Given the description of an element on the screen output the (x, y) to click on. 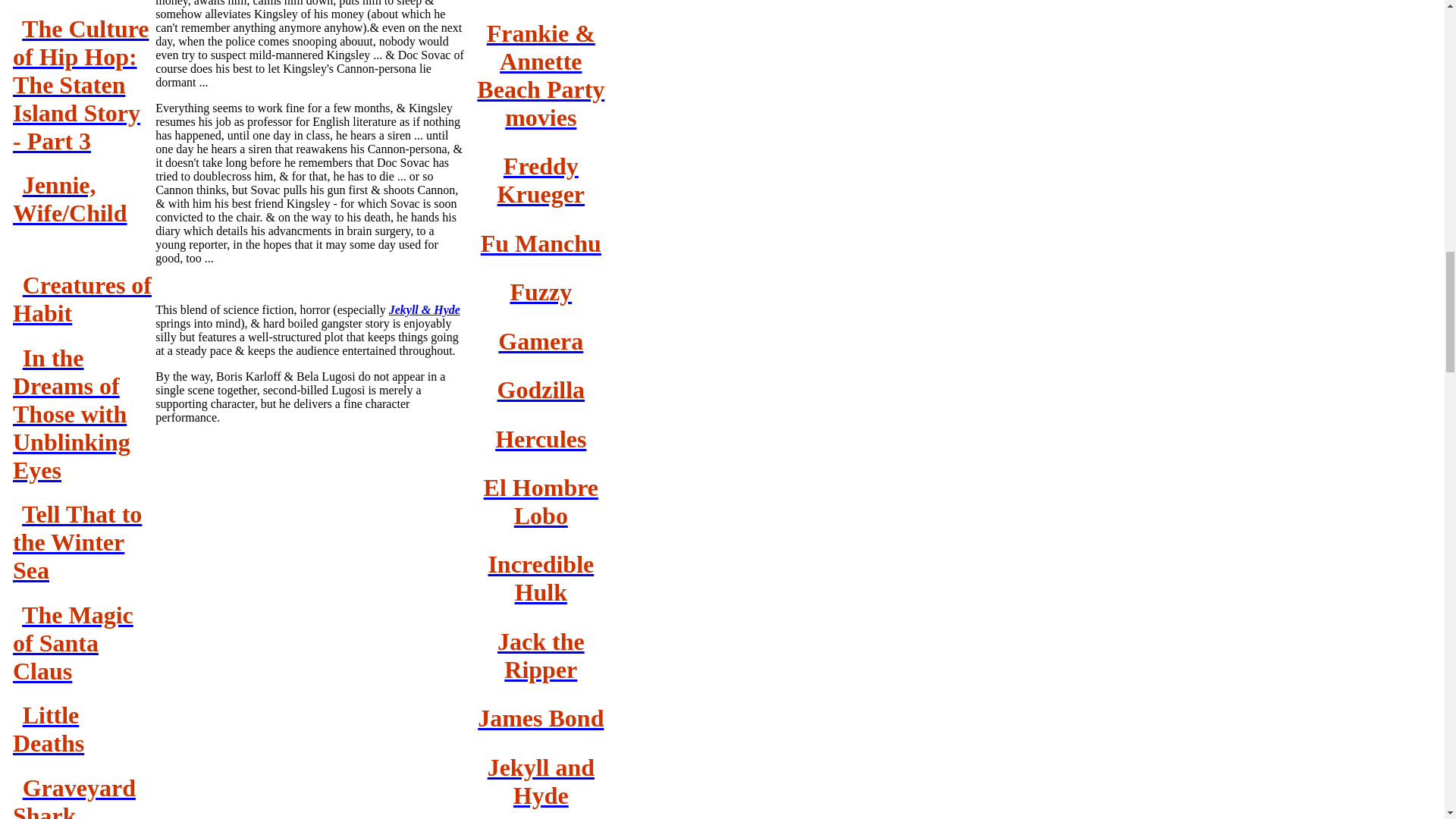
Tell That to the Winter Sea (77, 541)
Graveyard Shark (74, 796)
Little Deaths (48, 728)
Creatures of Habit (82, 298)
The Culture of Hip Hop: The Staten Island Story - Part 3 (81, 84)
The Magic of Santa Claus (73, 642)
